Given the description of an element on the screen output the (x, y) to click on. 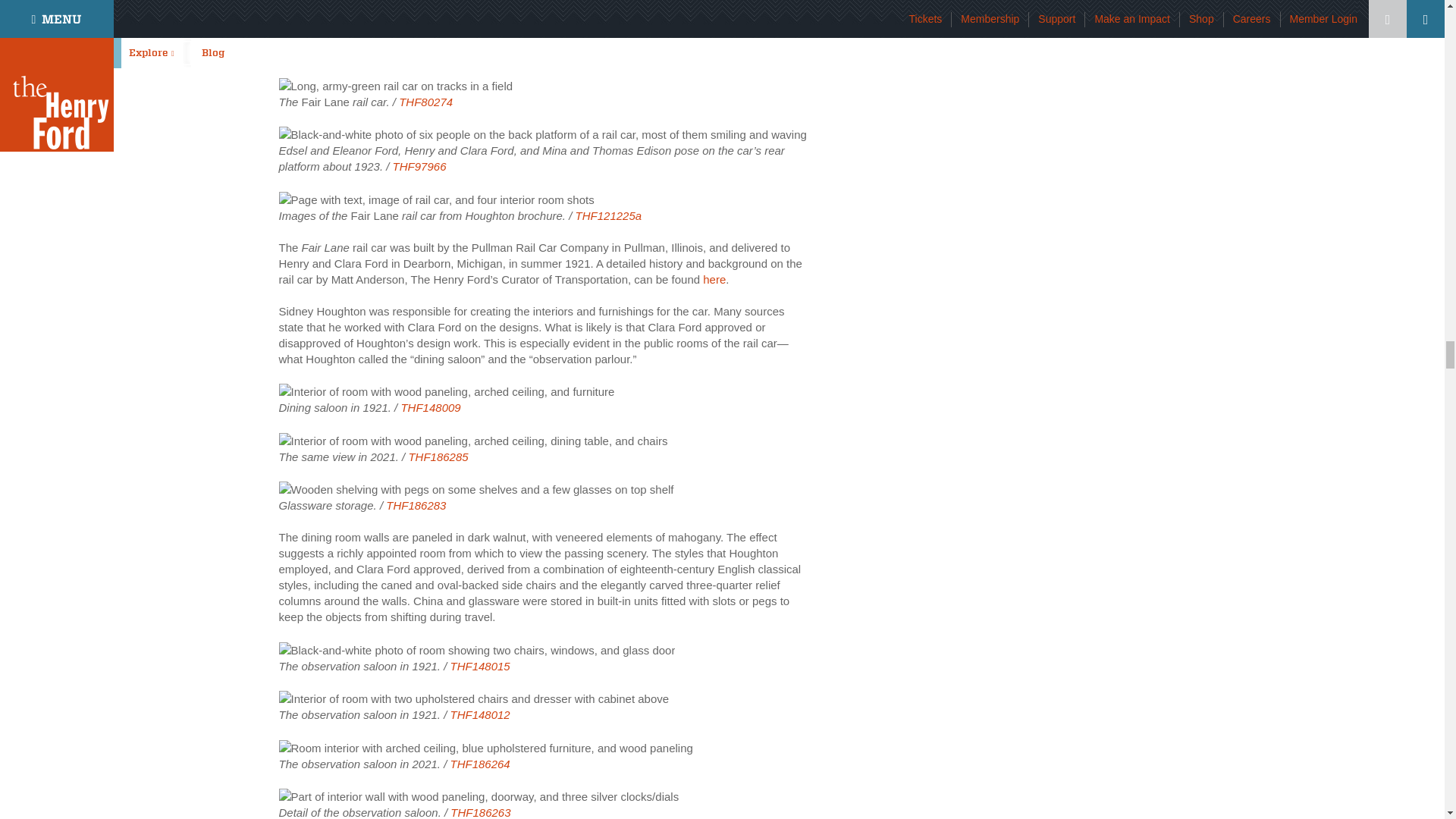
Henry Ford's Private Railroad Car "Fair Lane," 1921 (396, 84)
